Given the description of an element on the screen output the (x, y) to click on. 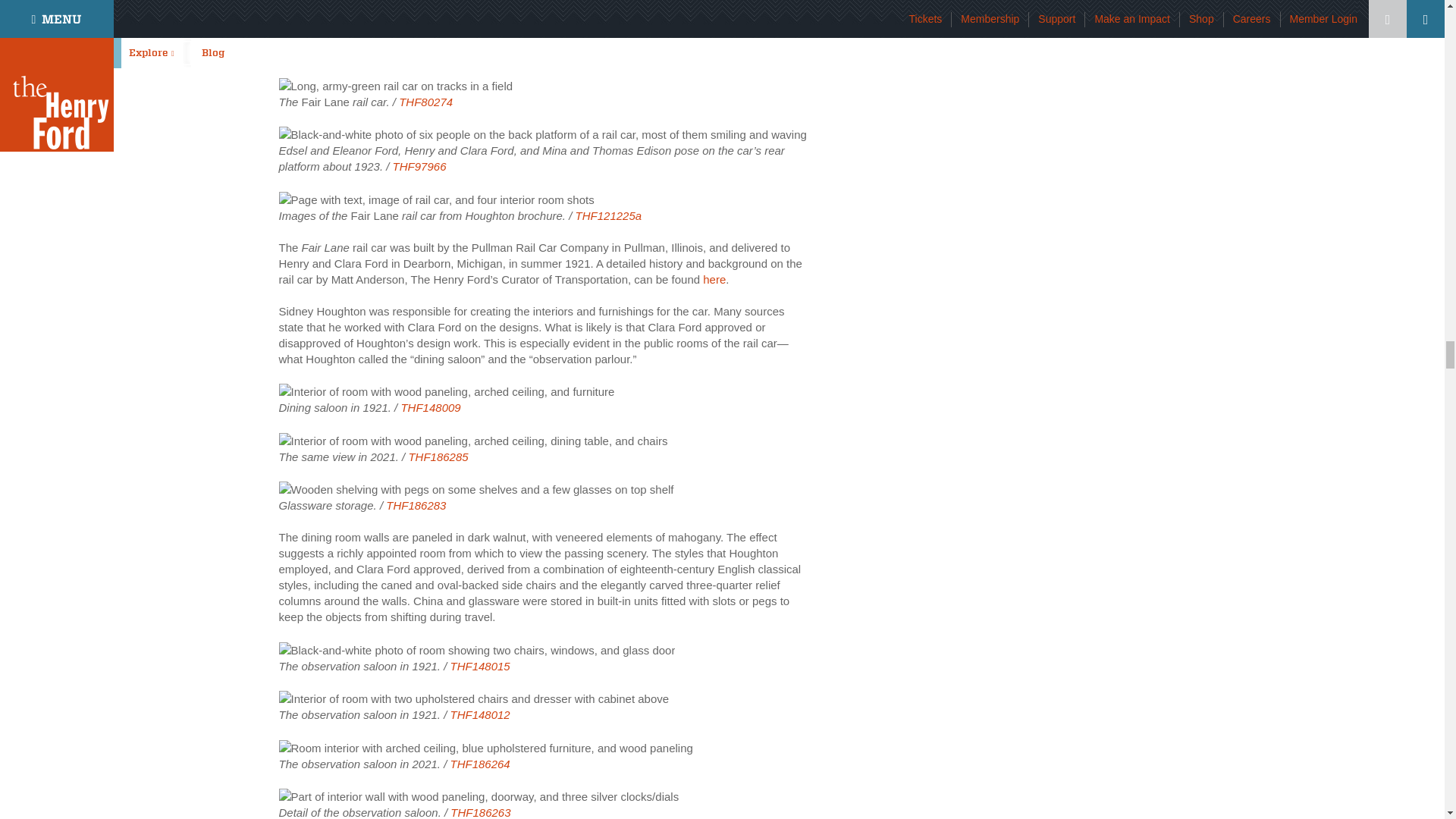
Henry Ford's Private Railroad Car "Fair Lane," 1921 (396, 84)
